Given the description of an element on the screen output the (x, y) to click on. 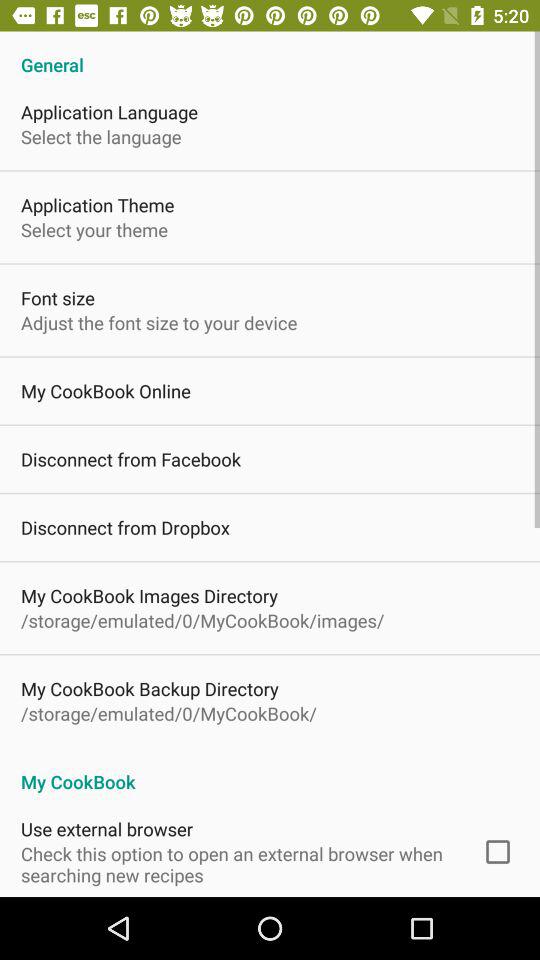
click select the language (101, 136)
